Given the description of an element on the screen output the (x, y) to click on. 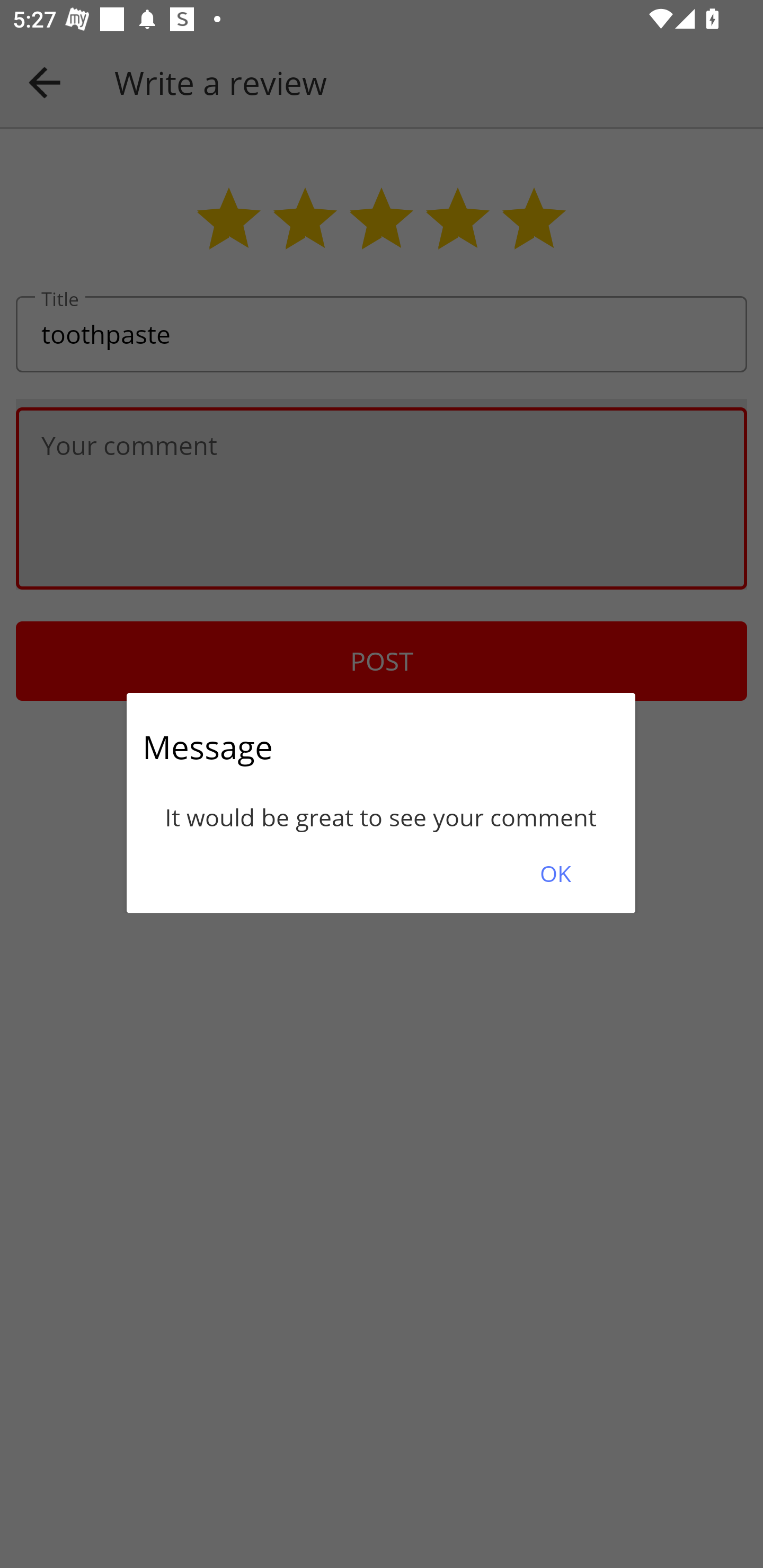
OK (555, 873)
